Given the description of an element on the screen output the (x, y) to click on. 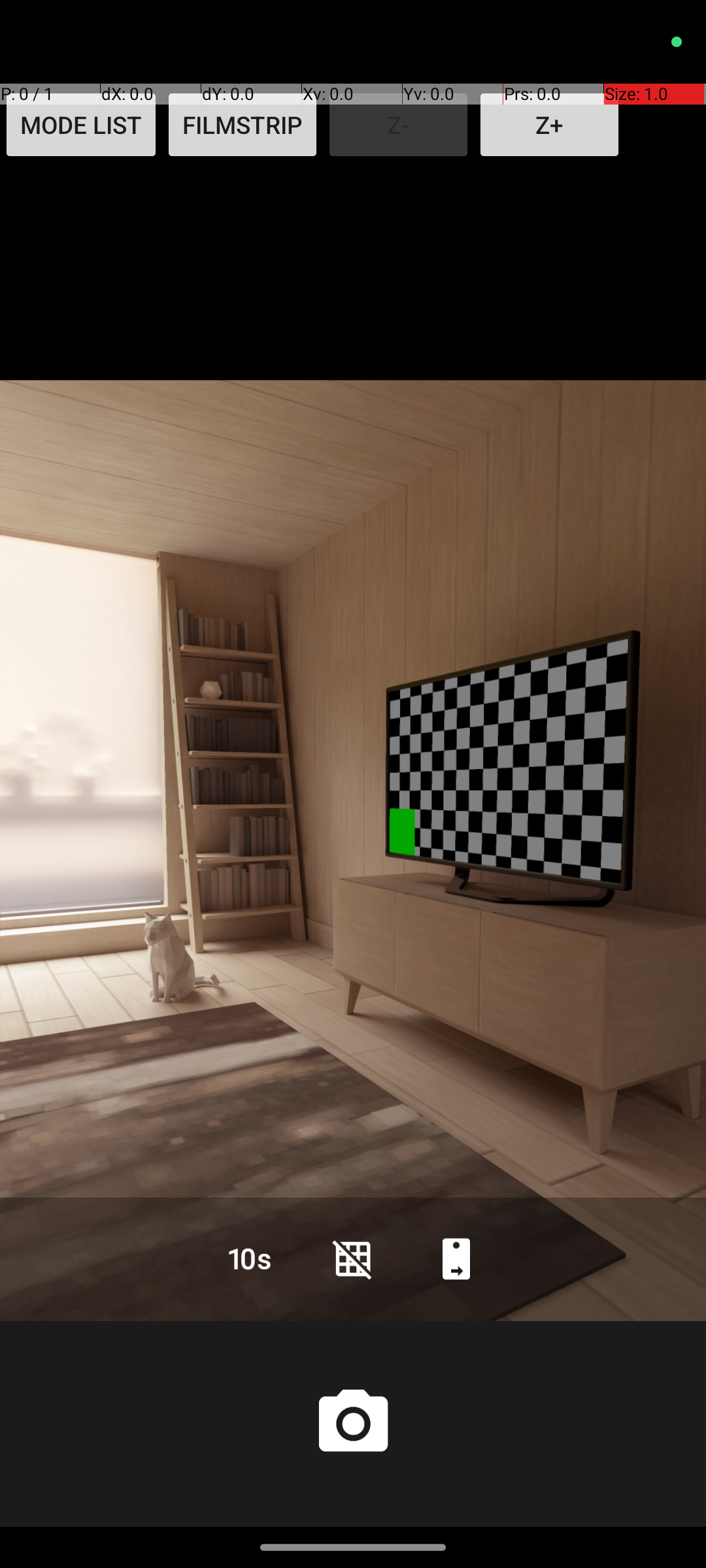
Countdown timer duration is set to 10 seconds Element type: android.widget.ImageButton (249, 1258)
